Given the description of an element on the screen output the (x, y) to click on. 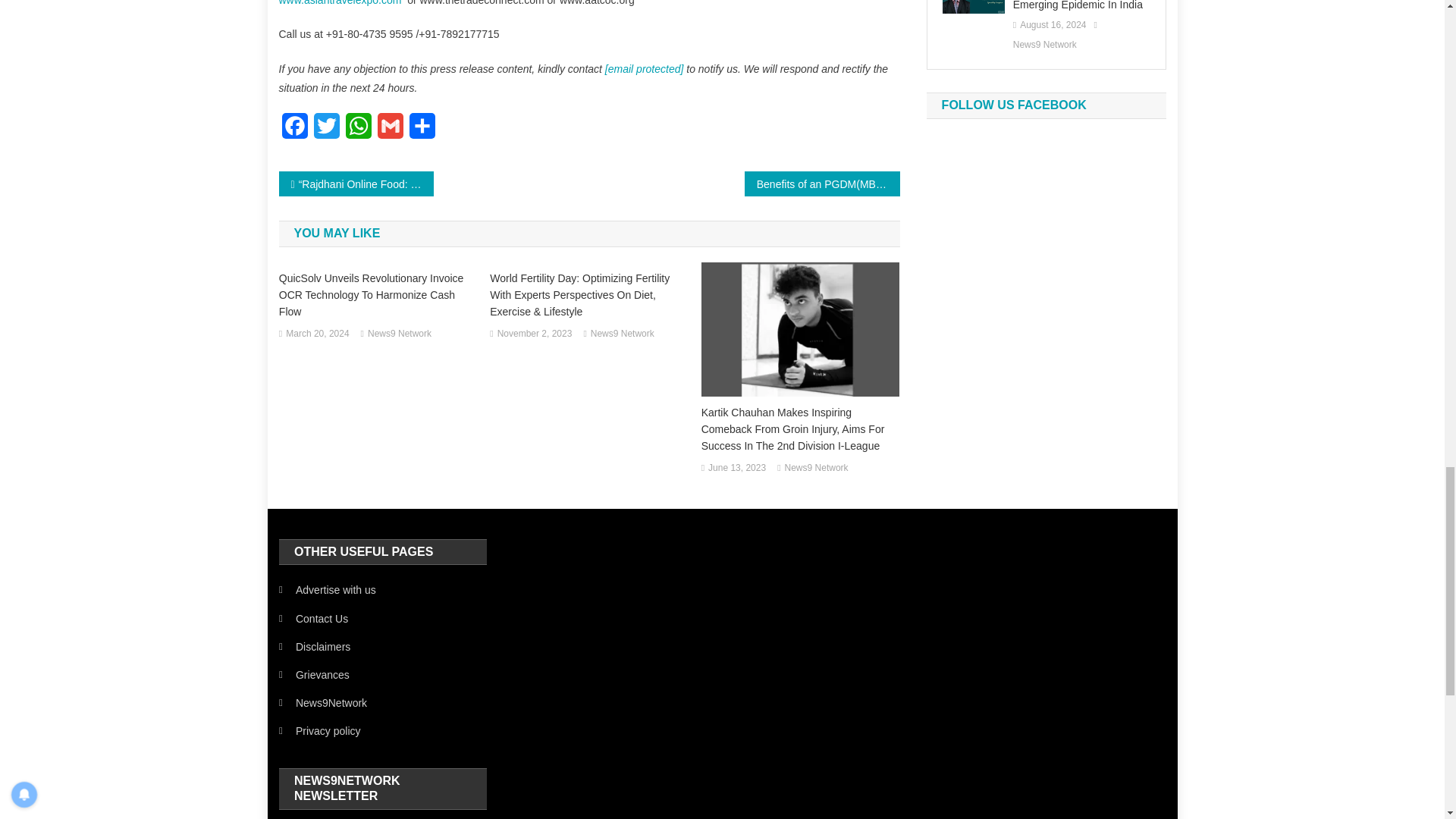
Facebook (295, 130)
Gmail (390, 130)
Twitter (326, 130)
WhatsApp (358, 130)
